Given the description of an element on the screen output the (x, y) to click on. 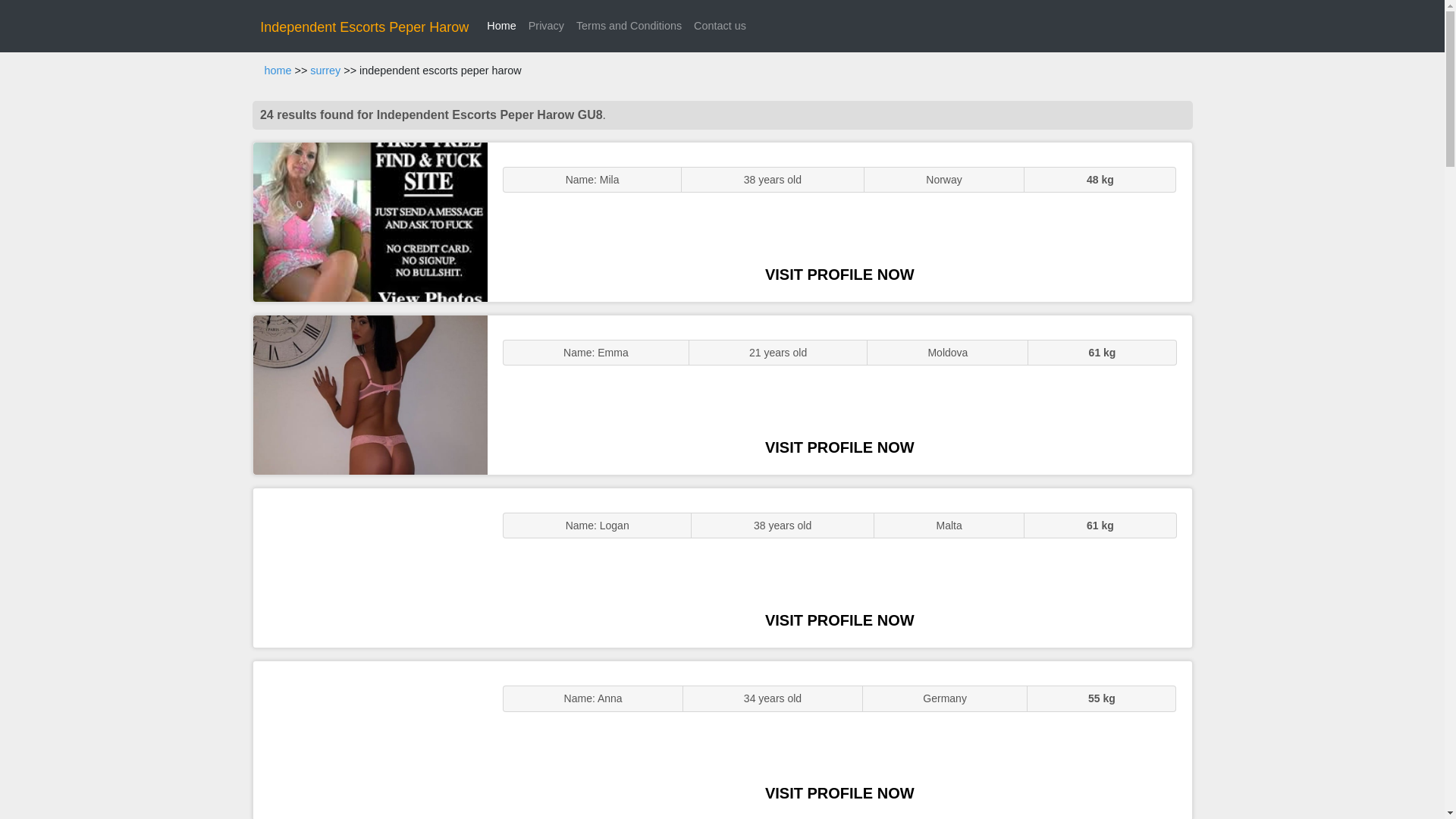
VISIT PROFILE NOW (839, 446)
Sexy (370, 567)
VISIT PROFILE NOW (839, 619)
Independent Escorts Peper Harow (364, 27)
Contact us (719, 25)
VISIT PROFILE NOW (839, 274)
home (277, 70)
Privacy (546, 25)
 ENGLISH STUNNER (370, 222)
surrey (325, 70)
